Given the description of an element on the screen output the (x, y) to click on. 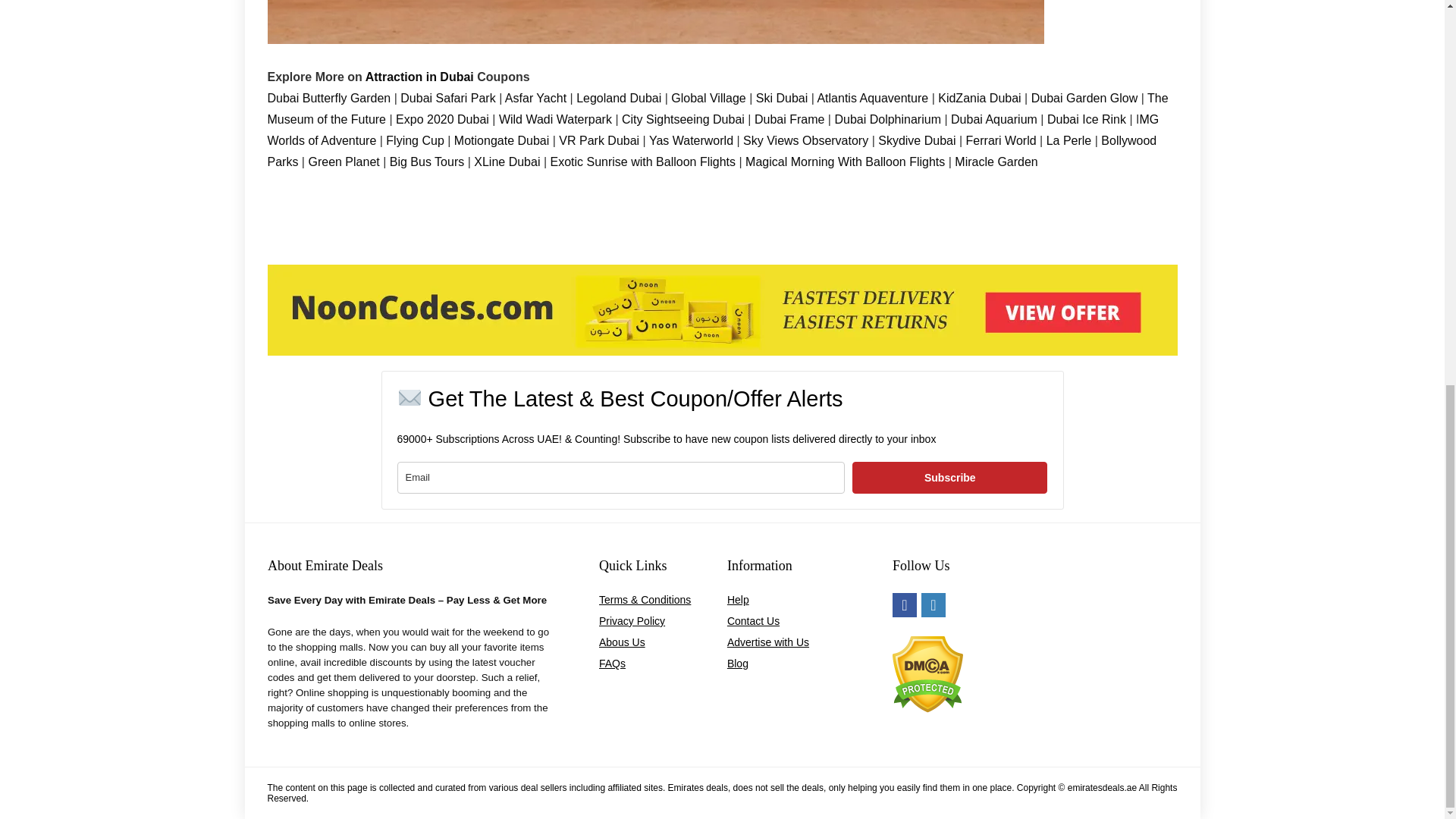
Legoland Dubai (620, 97)
Ski Dubai (782, 97)
Ferrari World (999, 140)
La Perle (1068, 140)
Yas Waterworld (691, 140)
City Sightseeing Dubai (682, 119)
Asfar Yacht (535, 97)
Facebook (904, 604)
MG Worlds of Adventure (712, 130)
Wild Wadi Waterpark (554, 119)
Flying Cup (414, 140)
The Museum of the Future (716, 108)
Dubai Garden Glow (1084, 97)
Motiongate Dubai (503, 140)
Dubai Butterfly Garden (328, 97)
